Given the description of an element on the screen output the (x, y) to click on. 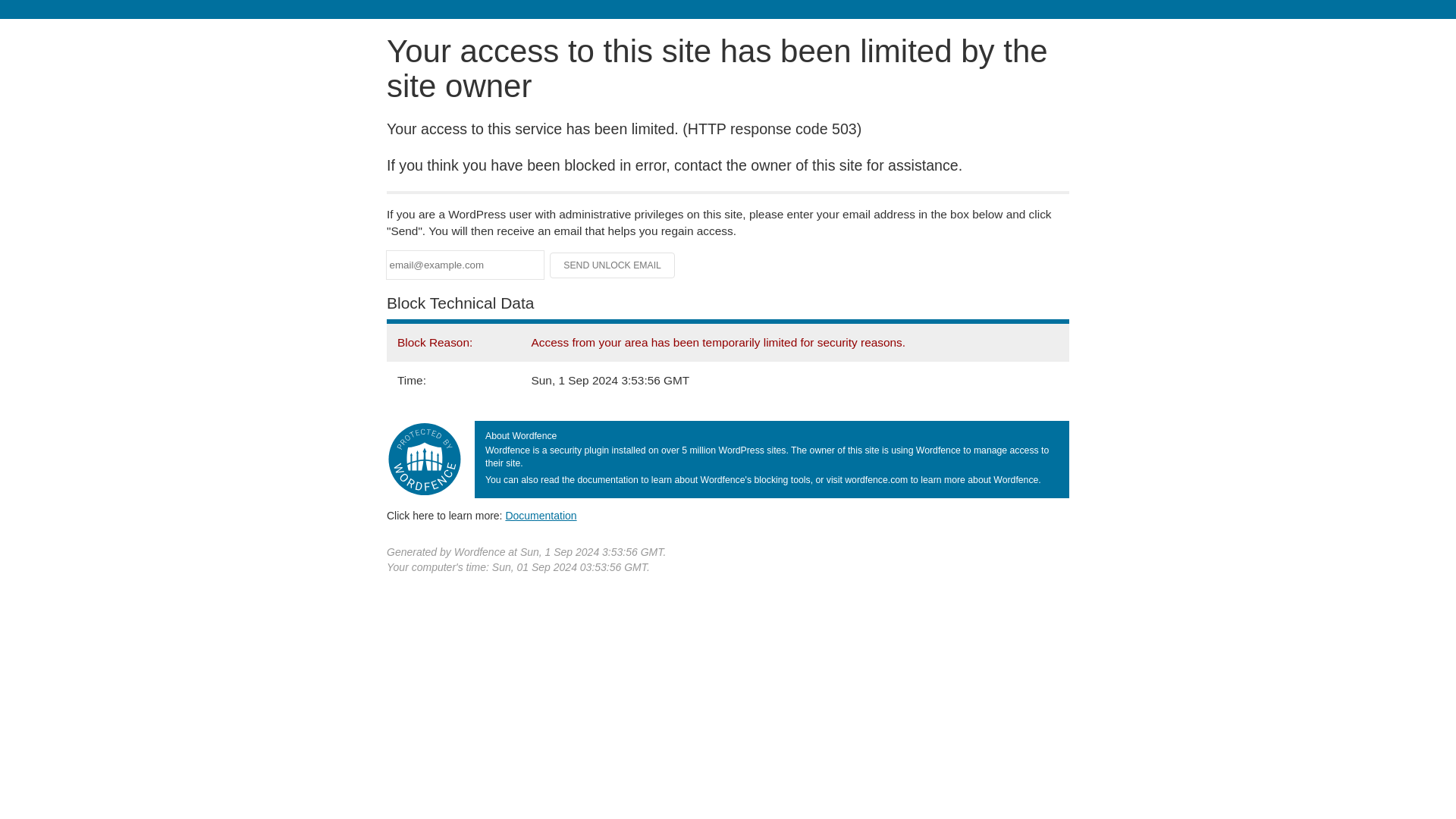
Send Unlock Email (612, 265)
Documentation (540, 515)
Send Unlock Email (612, 265)
